Given the description of an element on the screen output the (x, y) to click on. 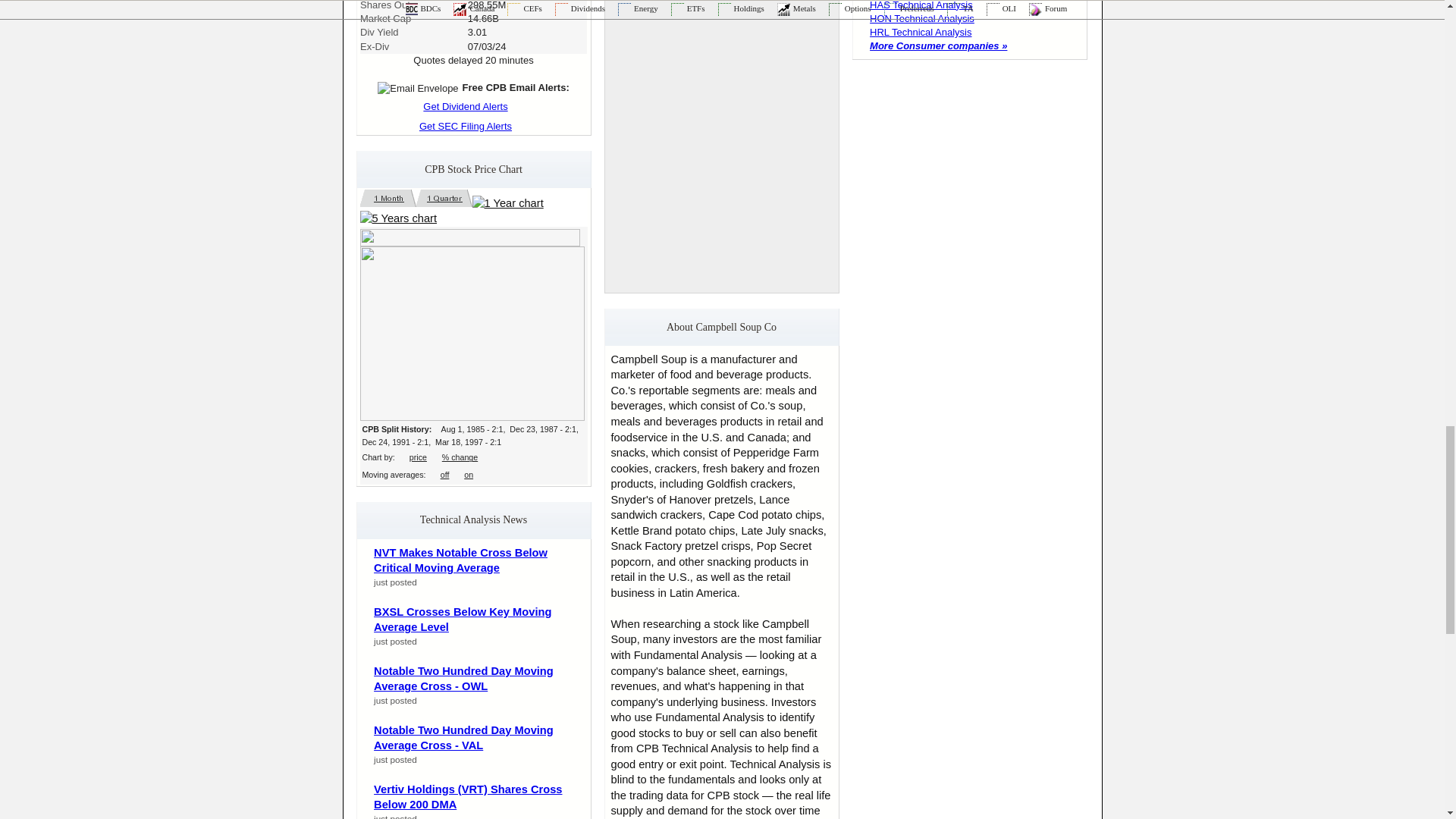
Get SEC Filing Alerts (473, 125)
off (445, 474)
BXSL Crosses Below Key Moving Average Level (462, 619)
Get Dividend Alerts (472, 106)
price (417, 456)
Notable Two Hundred Day Moving Average Cross - VAL (463, 737)
Notable Two Hundred Day Moving Average Cross - OWL (463, 678)
NVT Makes Notable Cross Below Critical Moving Average (460, 560)
on (468, 474)
